Given the description of an element on the screen output the (x, y) to click on. 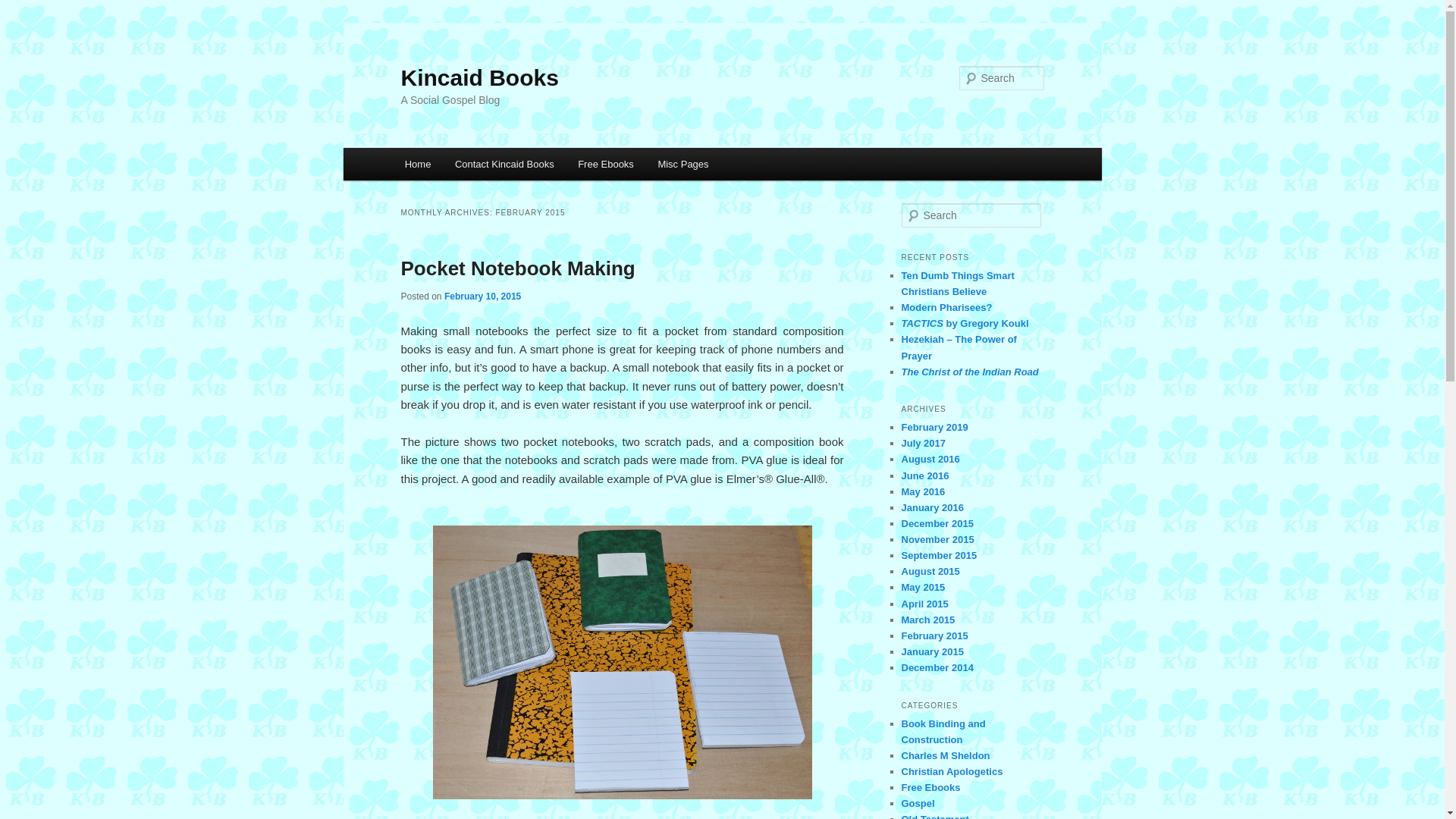
Search (21, 11)
November 2015 (937, 539)
August 2015 (930, 571)
July 2017 (922, 442)
Home (417, 164)
Pocket Notebook Making (517, 268)
September 2015 (938, 555)
May 2016 (922, 491)
Misc Pages (683, 164)
August 2016 (930, 459)
Free Ebooks (605, 164)
Contact Kincaid Books (504, 164)
February 2019 (934, 427)
TACTICS by Gregory Koukl (964, 323)
Modern Pharisees? (946, 307)
